Given the description of an element on the screen output the (x, y) to click on. 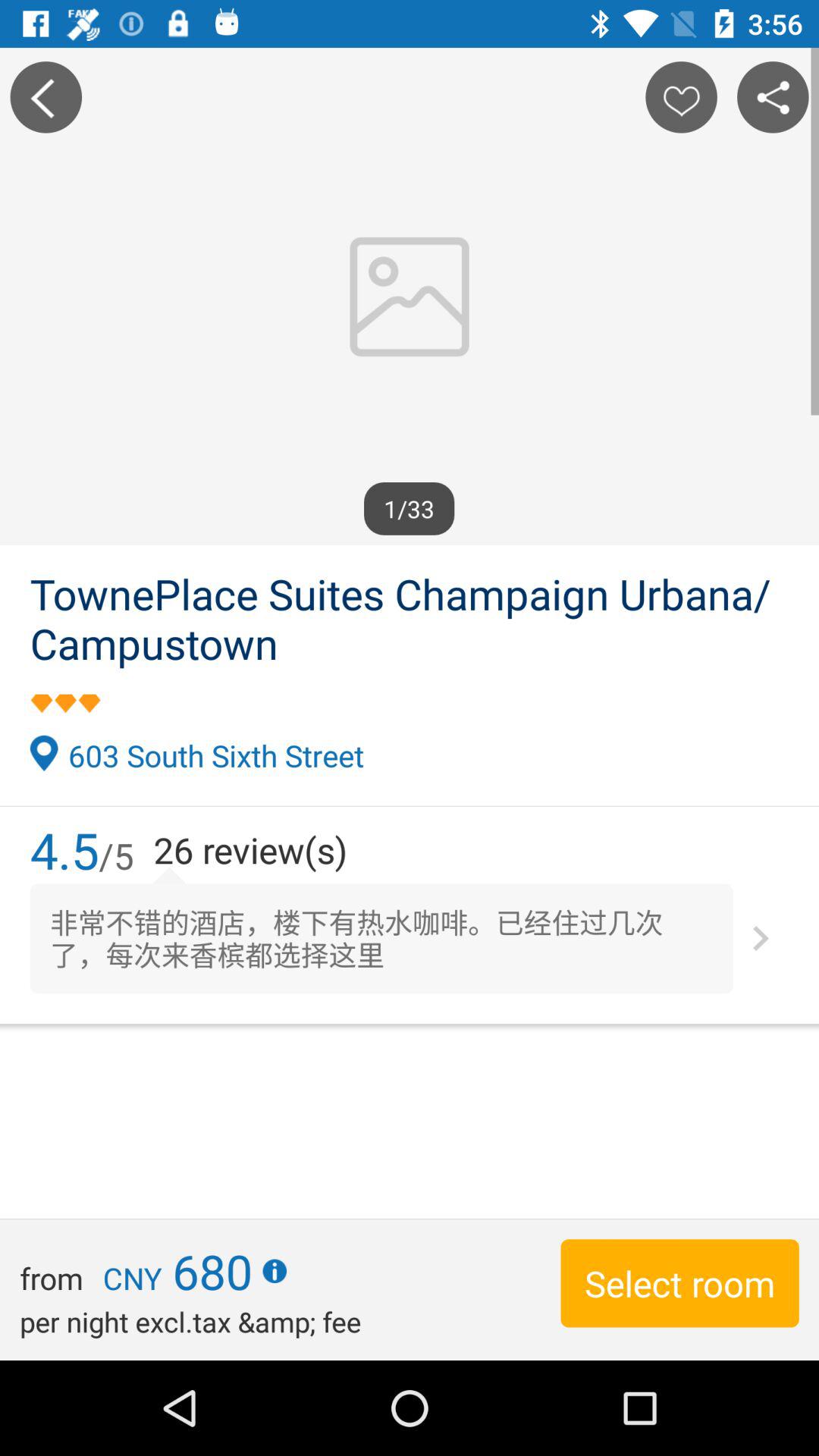
share (772, 97)
